Given the description of an element on the screen output the (x, y) to click on. 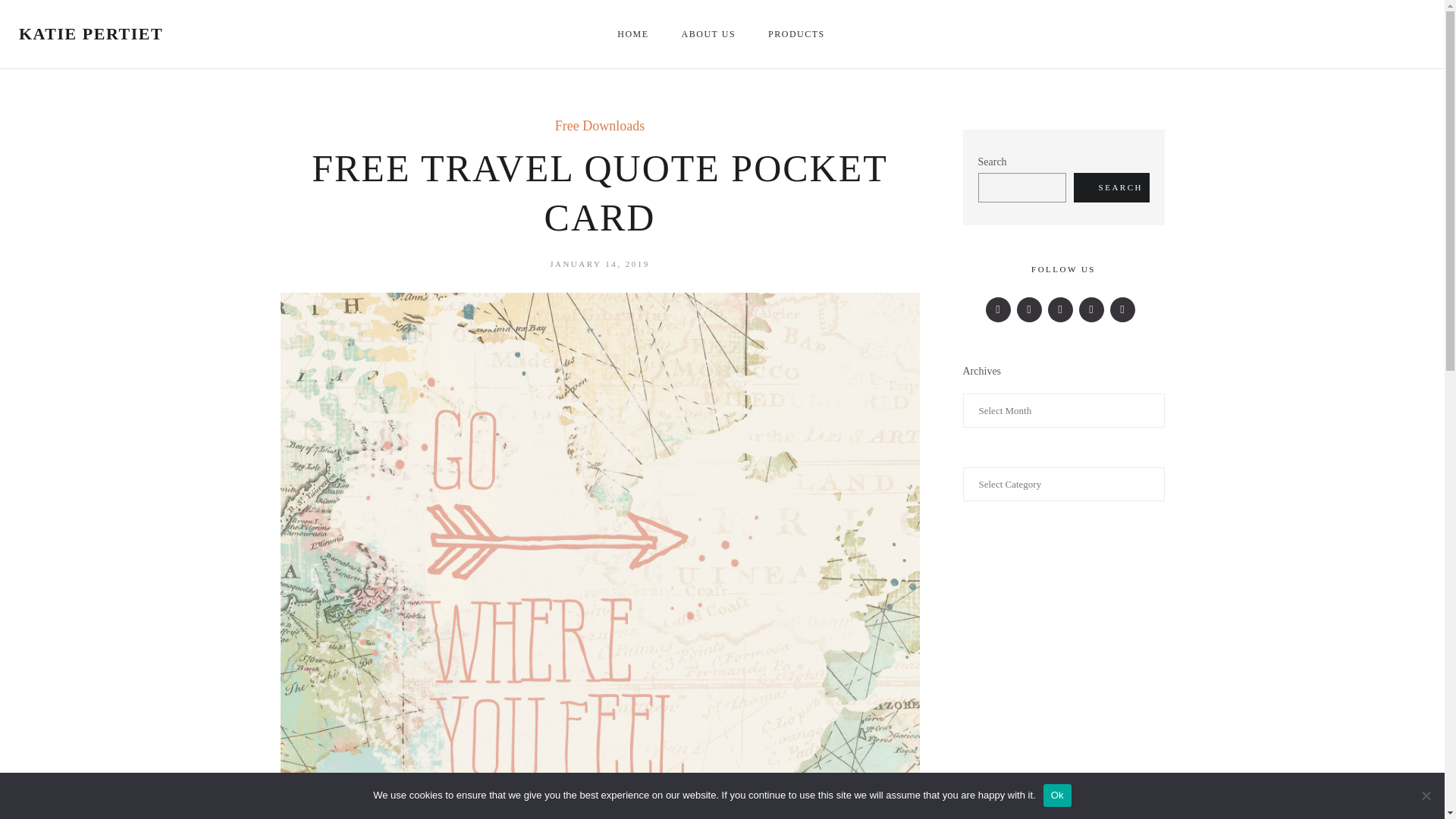
Pinterest (1090, 309)
No (1425, 795)
Facebook (997, 309)
YouTube (1122, 309)
HOME (633, 34)
Twitter (1029, 309)
ABOUT US (709, 34)
KATIE PERTIET (90, 33)
SEARCH (1112, 187)
Instagram (1060, 309)
